Given the description of an element on the screen output the (x, y) to click on. 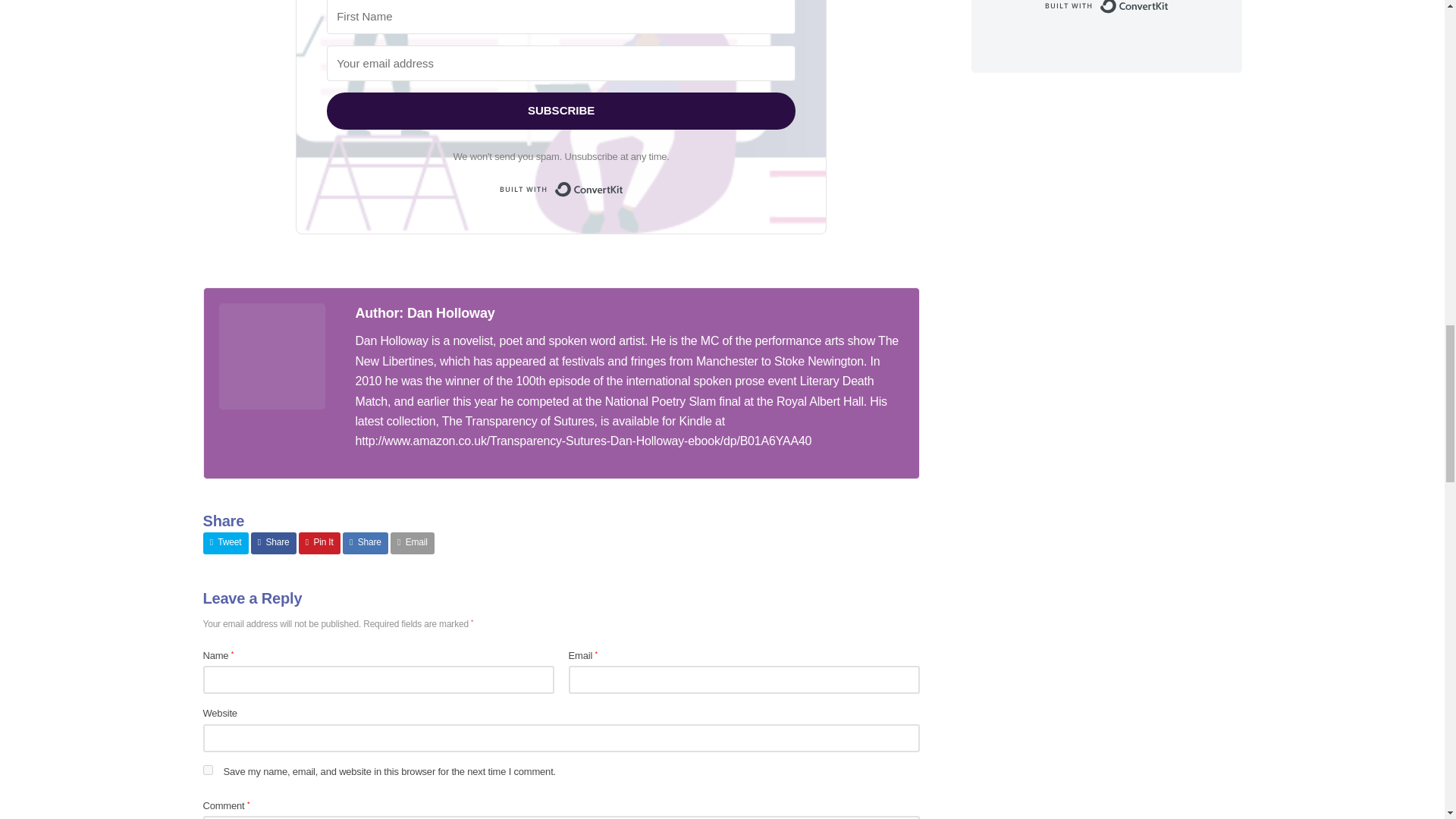
yes (207, 769)
Visit Author Page (425, 313)
Visit Author Page (271, 356)
